Given the description of an element on the screen output the (x, y) to click on. 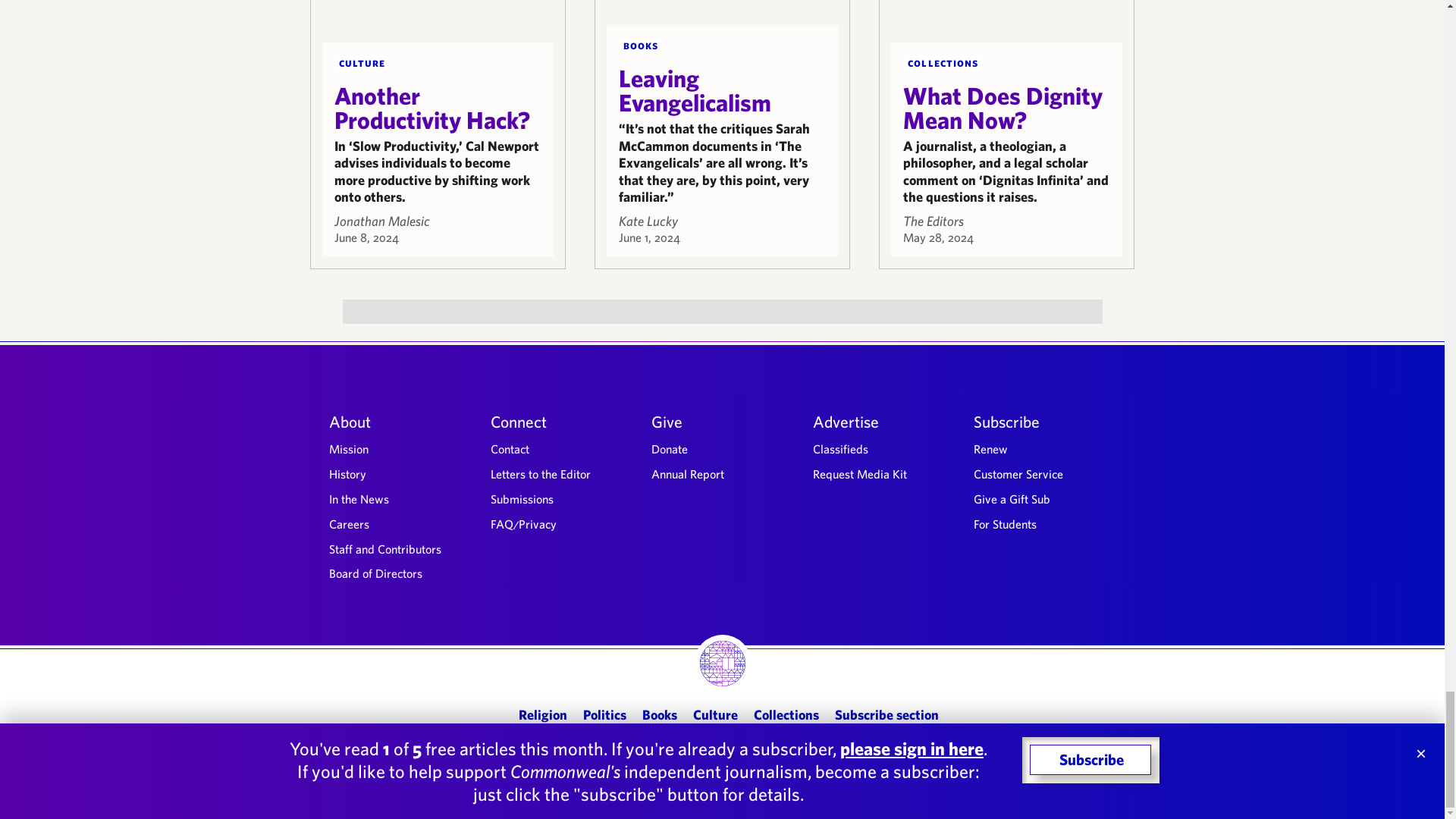
View user profile. (648, 220)
Saturday, June 8, 2024 - 14:07 (365, 237)
Tuesday, May 28, 2024 - 16:43 (938, 237)
View user profile. (381, 220)
Saturday, June 1, 2024 - 14:44 (648, 237)
View user profile. (932, 220)
About Commonweal (399, 420)
